Given the description of an element on the screen output the (x, y) to click on. 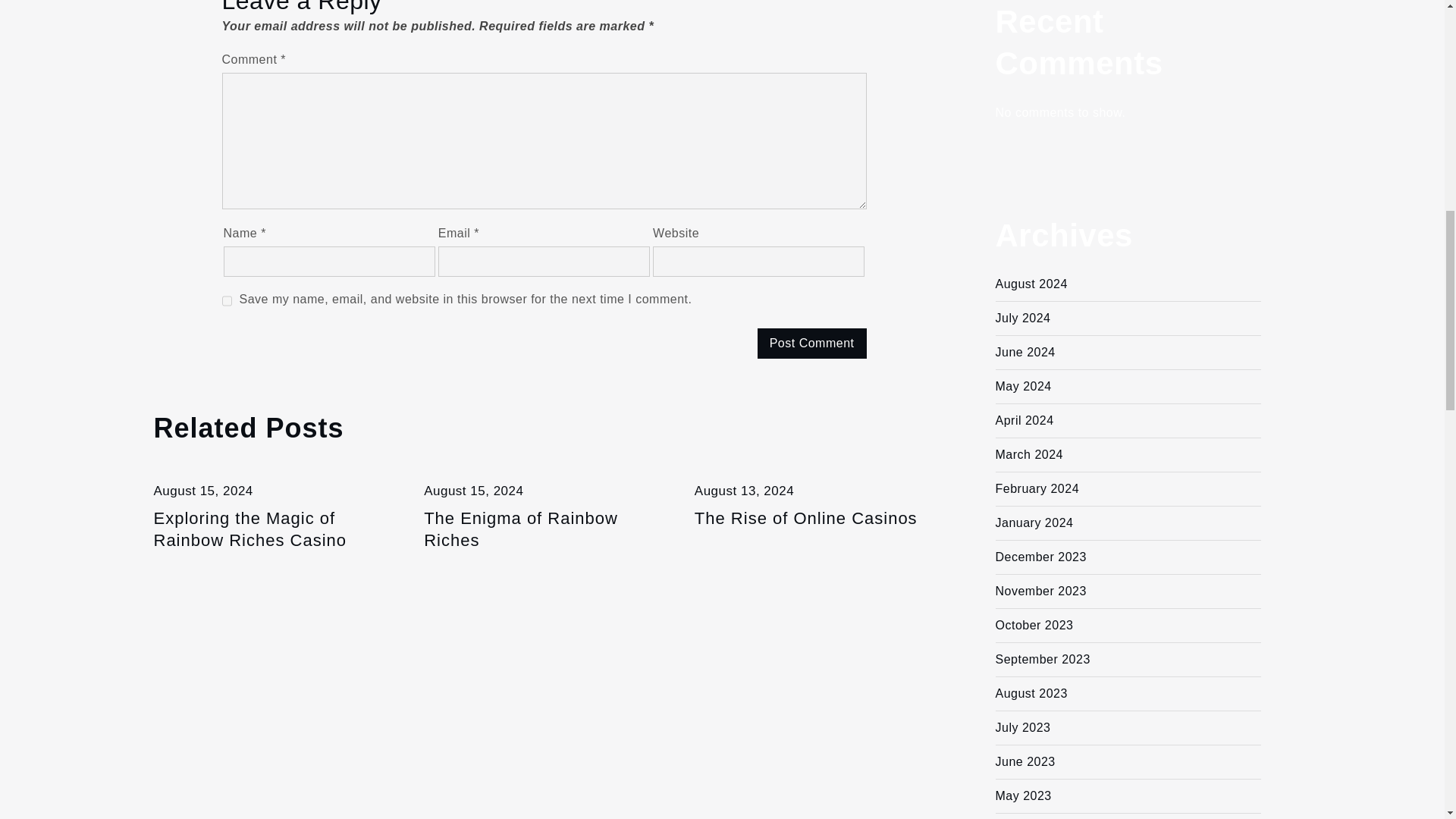
Post Comment (811, 343)
April 2024 (1023, 420)
June 2024 (1024, 351)
March 2024 (1028, 454)
The Enigma of Rainbow Riches (543, 529)
Post Comment (811, 343)
May 2024 (1022, 386)
August 15, 2024 (201, 490)
August 15, 2024 (472, 490)
August 13, 2024 (743, 490)
